Given the description of an element on the screen output the (x, y) to click on. 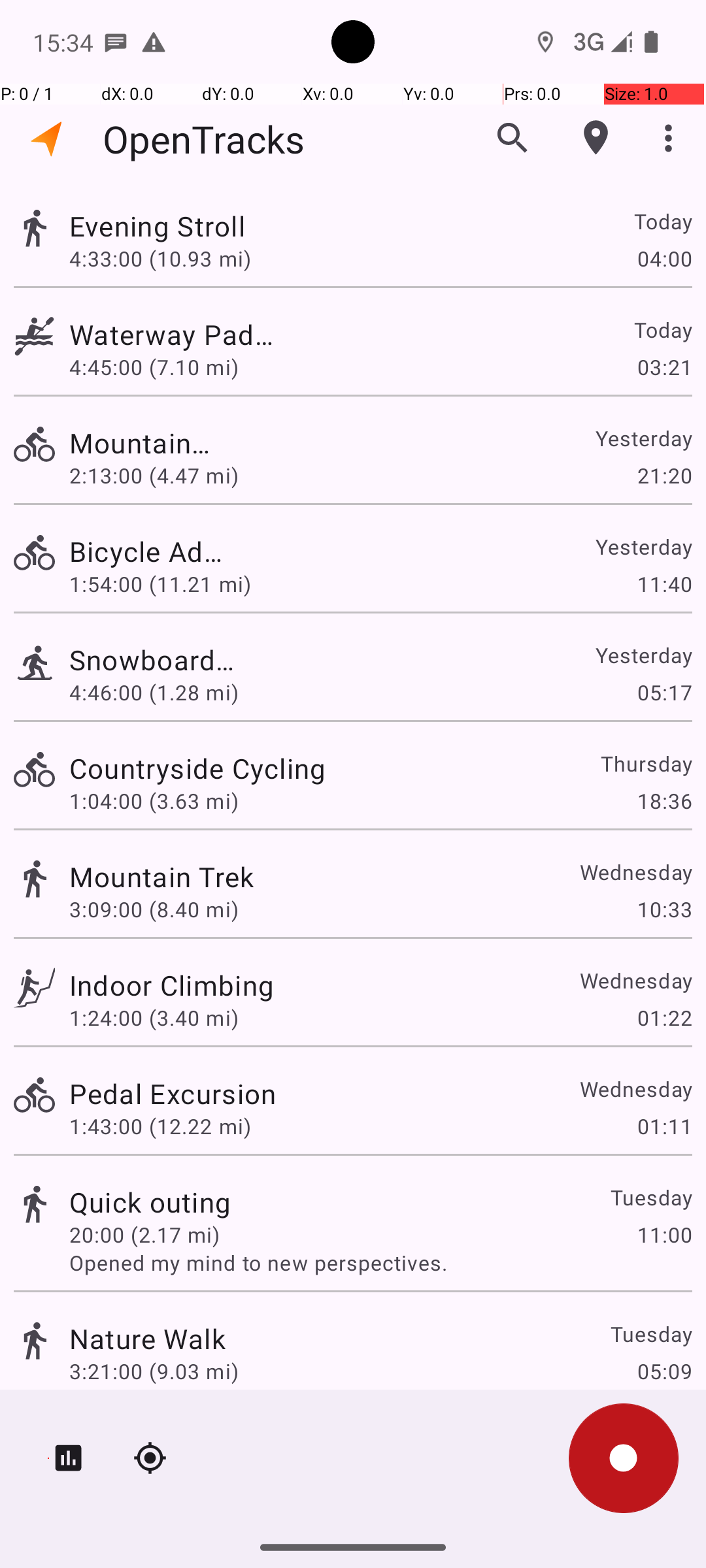
Evening Stroll Element type: android.widget.TextView (171, 225)
4:33:00 (10.93 mi) Element type: android.widget.TextView (159, 258)
04:00 Element type: android.widget.TextView (664, 258)
Waterway Paddle Element type: android.widget.TextView (172, 333)
4:45:00 (7.10 mi) Element type: android.widget.TextView (159, 366)
03:21 Element type: android.widget.TextView (664, 366)
Mountain Biking Element type: android.widget.TextView (149, 442)
Yesterday Element type: android.widget.TextView (643, 438)
2:13:00 (4.47 mi) Element type: android.widget.TextView (153, 475)
21:20 Element type: android.widget.TextView (664, 475)
Bicycle Adventure Element type: android.widget.TextView (147, 550)
1:54:00 (11.21 mi) Element type: android.widget.TextView (159, 583)
11:40 Element type: android.widget.TextView (664, 583)
Snowboard Trek Element type: android.widget.TextView (152, 659)
4:46:00 (1.28 mi) Element type: android.widget.TextView (153, 692)
05:17 Element type: android.widget.TextView (664, 692)
Countryside Cycling Element type: android.widget.TextView (197, 767)
1:04:00 (3.63 mi) Element type: android.widget.TextView (153, 800)
18:36 Element type: android.widget.TextView (664, 800)
Mountain Trek Element type: android.widget.TextView (161, 876)
3:09:00 (8.40 mi) Element type: android.widget.TextView (153, 909)
10:33 Element type: android.widget.TextView (664, 909)
Indoor Climbing Element type: android.widget.TextView (171, 984)
1:24:00 (3.40 mi) Element type: android.widget.TextView (153, 1017)
01:22 Element type: android.widget.TextView (664, 1017)
Pedal Excursion Element type: android.widget.TextView (172, 1092)
1:43:00 (12.22 mi) Element type: android.widget.TextView (159, 1125)
01:11 Element type: android.widget.TextView (664, 1125)
Quick outing Element type: android.widget.TextView (149, 1201)
20:00 (2.17 mi) Element type: android.widget.TextView (144, 1234)
11:00 Element type: android.widget.TextView (664, 1234)
Opened my mind to new perspectives. Element type: android.widget.TextView (380, 1262)
Nature Walk Element type: android.widget.TextView (147, 1337)
3:21:00 (9.03 mi) Element type: android.widget.TextView (153, 1370)
05:09 Element type: android.widget.TextView (664, 1370)
